Given the description of an element on the screen output the (x, y) to click on. 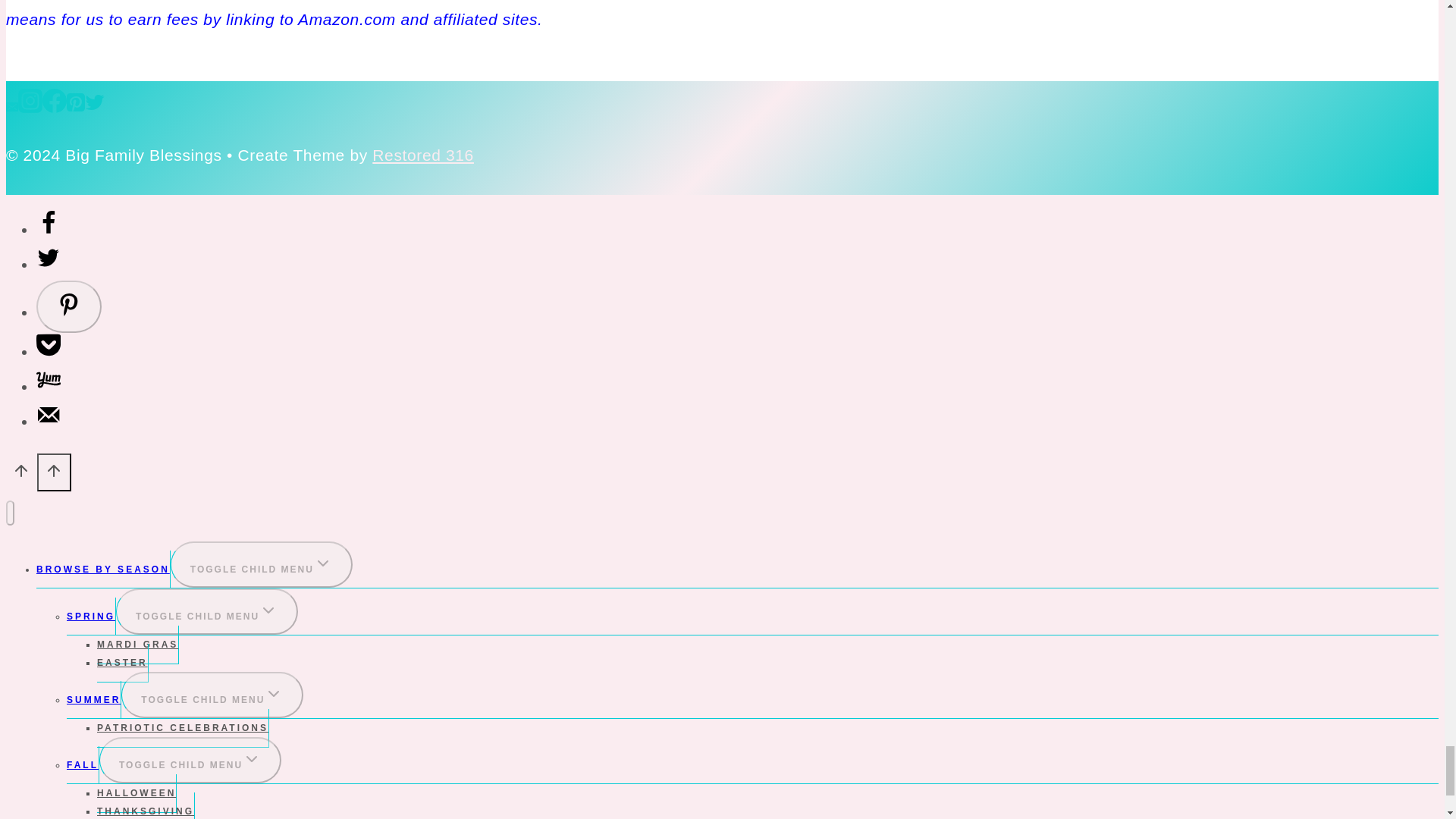
Send over email (48, 420)
Share on Pocket (48, 351)
Share on Yummly (48, 385)
Scroll to top (21, 473)
Share on Facebook (48, 229)
Share on Twitter (48, 263)
Save to Pinterest (68, 306)
SCROLL TO TOP (54, 472)
